Given the description of an element on the screen output the (x, y) to click on. 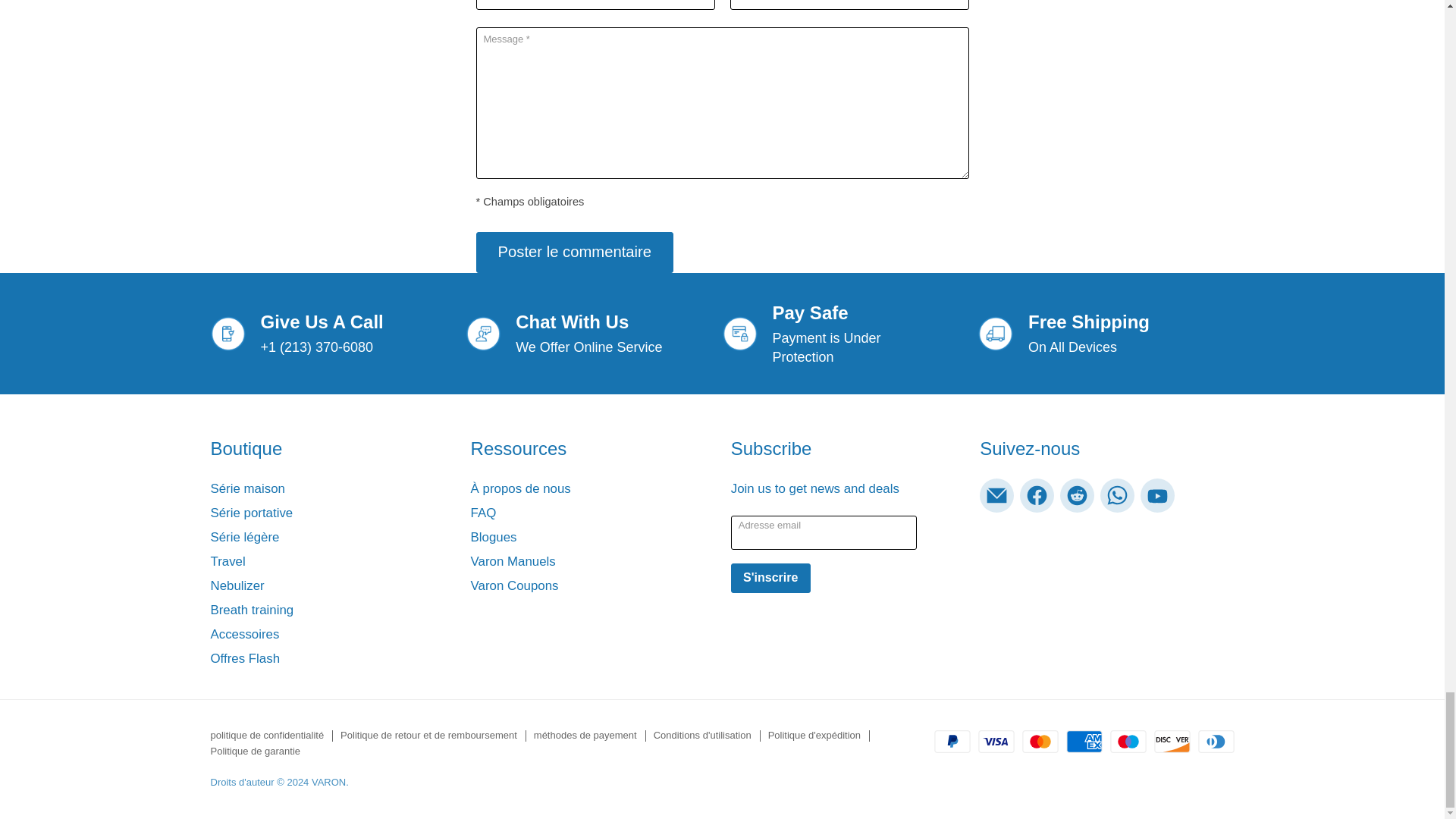
YouTube (1157, 495)
PayPal (952, 741)
Facebook (1037, 495)
Visa (996, 741)
Reddit (1076, 495)
Email (996, 495)
WhatsApp (1117, 495)
